Given the description of an element on the screen output the (x, y) to click on. 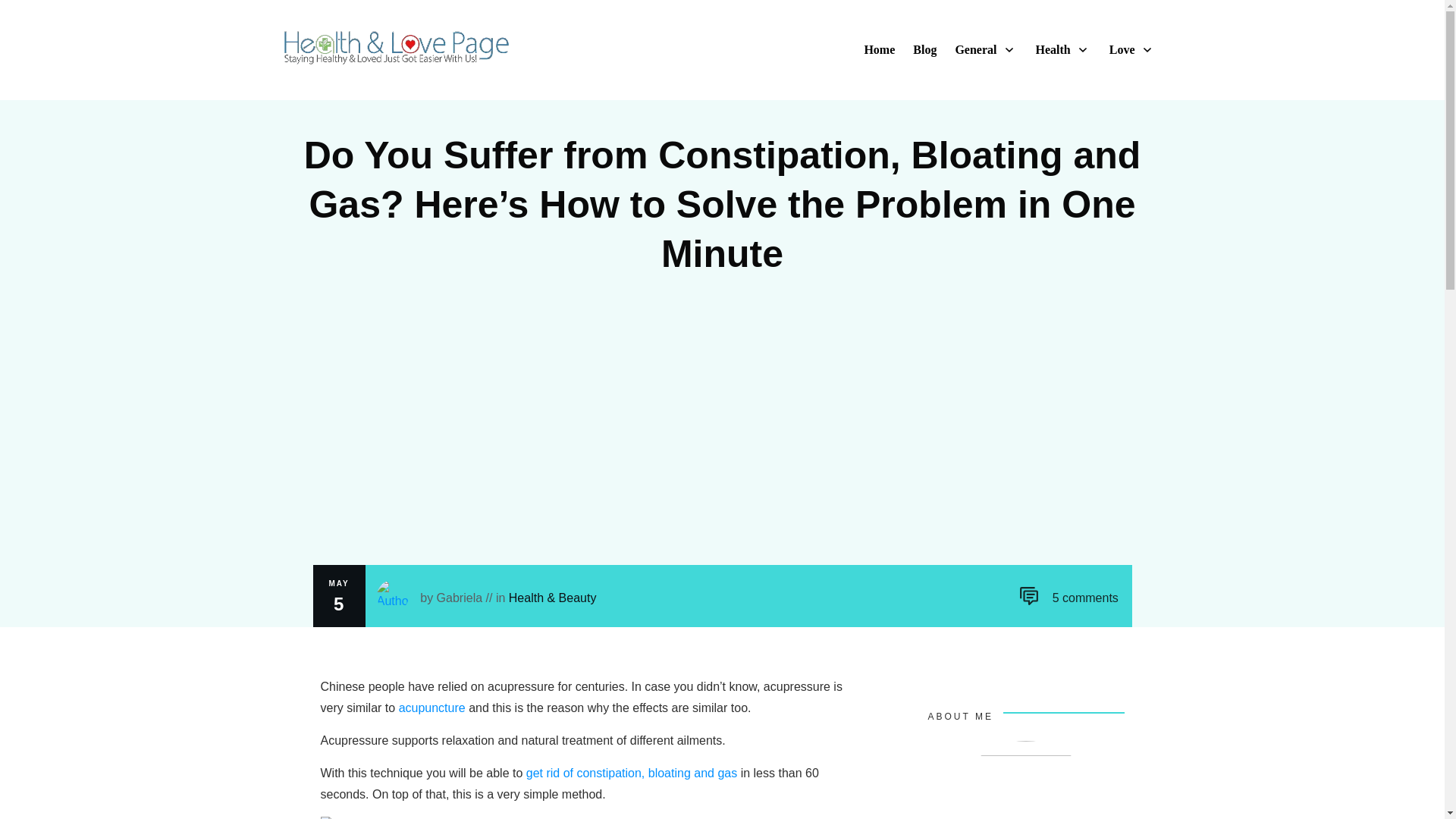
get rid of constipation, bloating and gas (630, 772)
Home (879, 49)
GK23 (1026, 780)
Love (1131, 49)
Health (1062, 49)
Gabriela (458, 597)
General (984, 49)
Blog (924, 49)
acupuncture (431, 707)
Gabriela (458, 597)
